Given the description of an element on the screen output the (x, y) to click on. 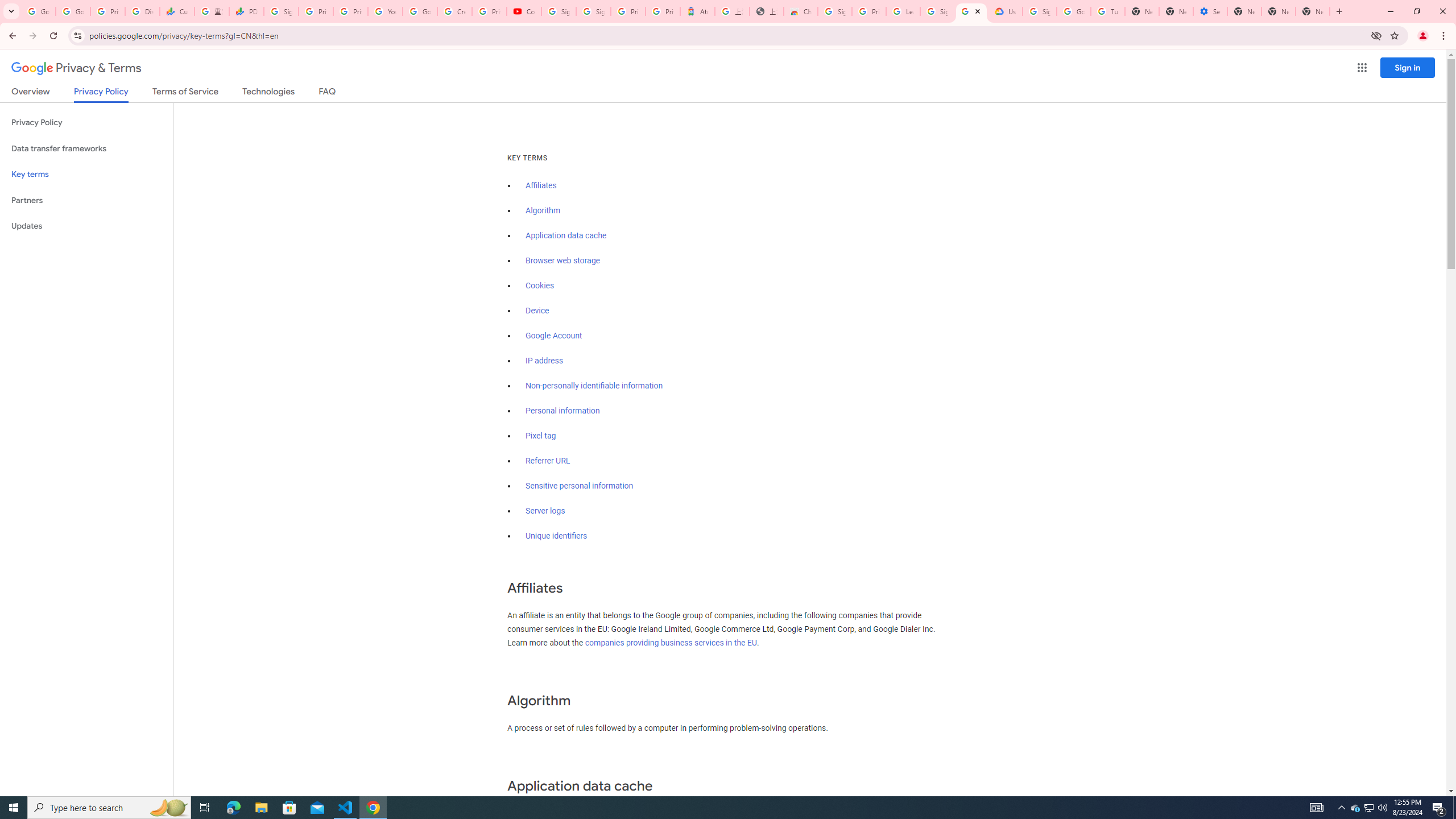
PDD Holdings Inc - ADR (PDD) Price & News - Google Finance (246, 11)
Sign in - Google Accounts (1039, 11)
New Tab (1312, 11)
